Given the description of an element on the screen output the (x, y) to click on. 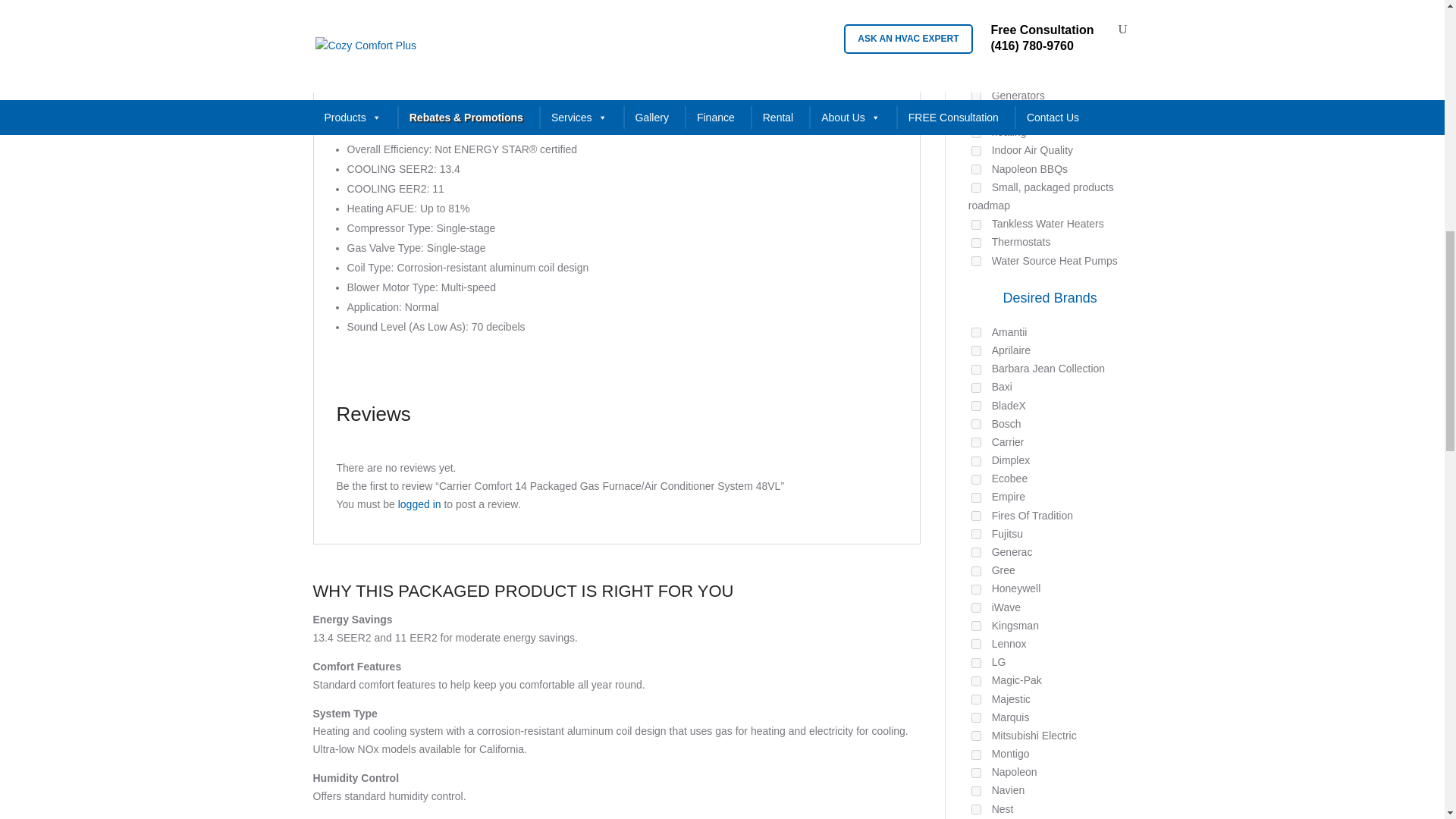
430 (976, 350)
516 (976, 187)
237 (976, 243)
163 (976, 114)
317 (976, 332)
355 (976, 169)
217 (976, 151)
393 (976, 4)
168 (976, 225)
155 (976, 77)
